Given the description of an element on the screen output the (x, y) to click on. 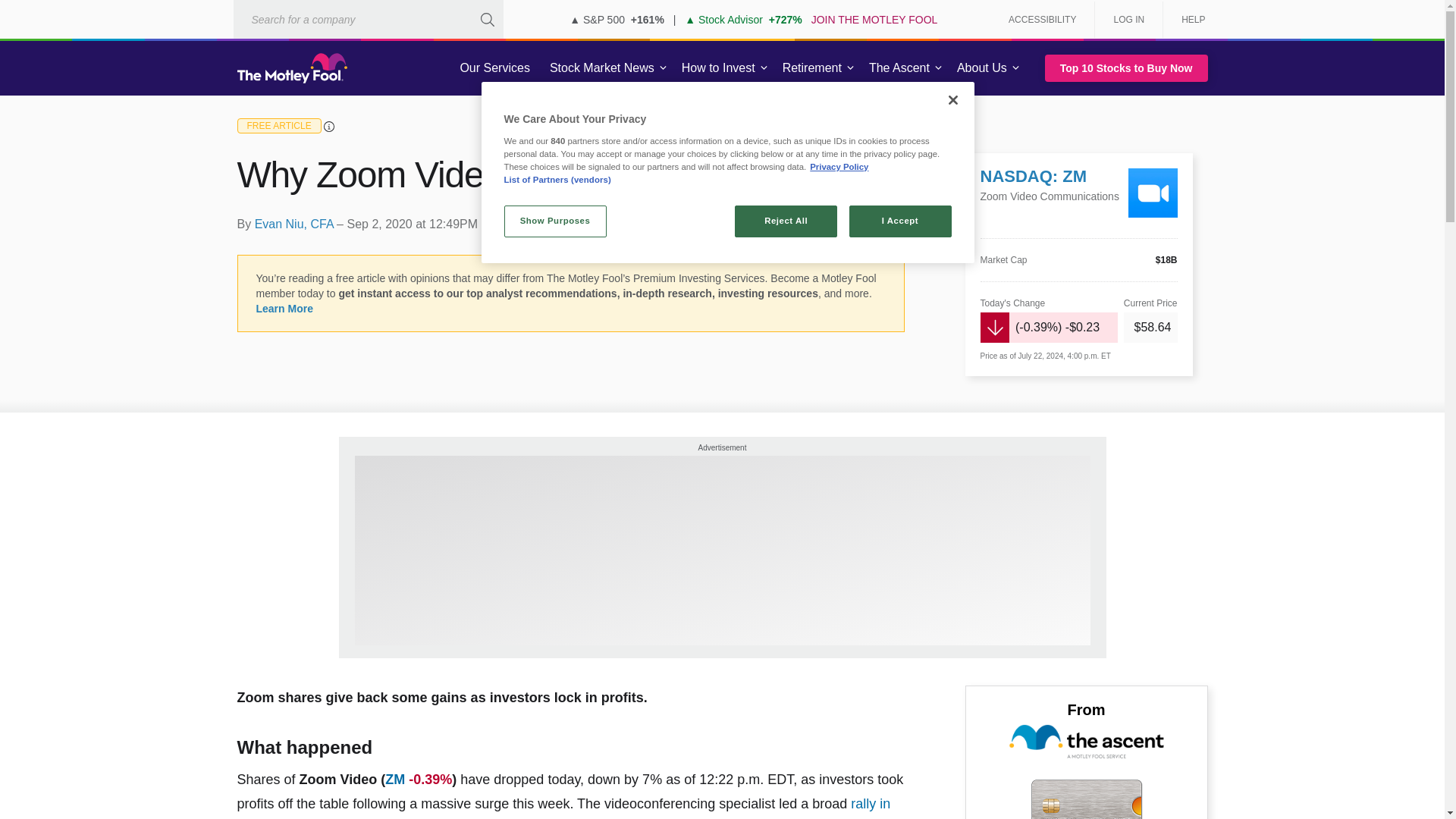
How to Invest (718, 67)
HELP (1187, 19)
Our Services (493, 67)
Stock Market News (601, 67)
ACCESSIBILITY (1042, 19)
LOG IN (1128, 19)
